Given the description of an element on the screen output the (x, y) to click on. 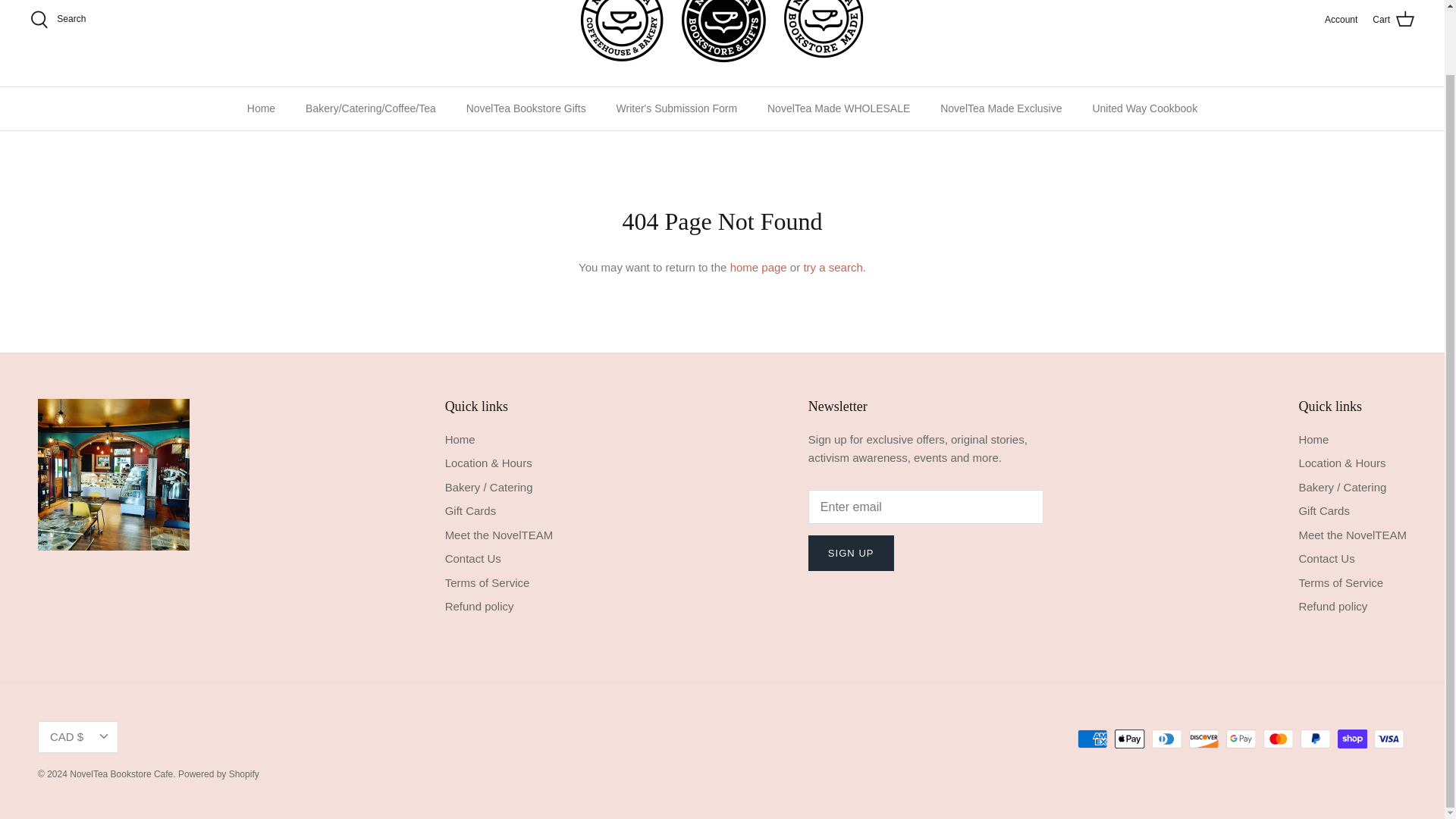
Visa (1388, 738)
Down (103, 735)
Discover (1203, 738)
NovelTea Bookstore Cafe (722, 35)
Home (260, 108)
Diners Club (1166, 738)
Apple Pay (1129, 738)
Shop Pay (1352, 738)
Account (1340, 20)
PayPal (1315, 738)
